Given the description of an element on the screen output the (x, y) to click on. 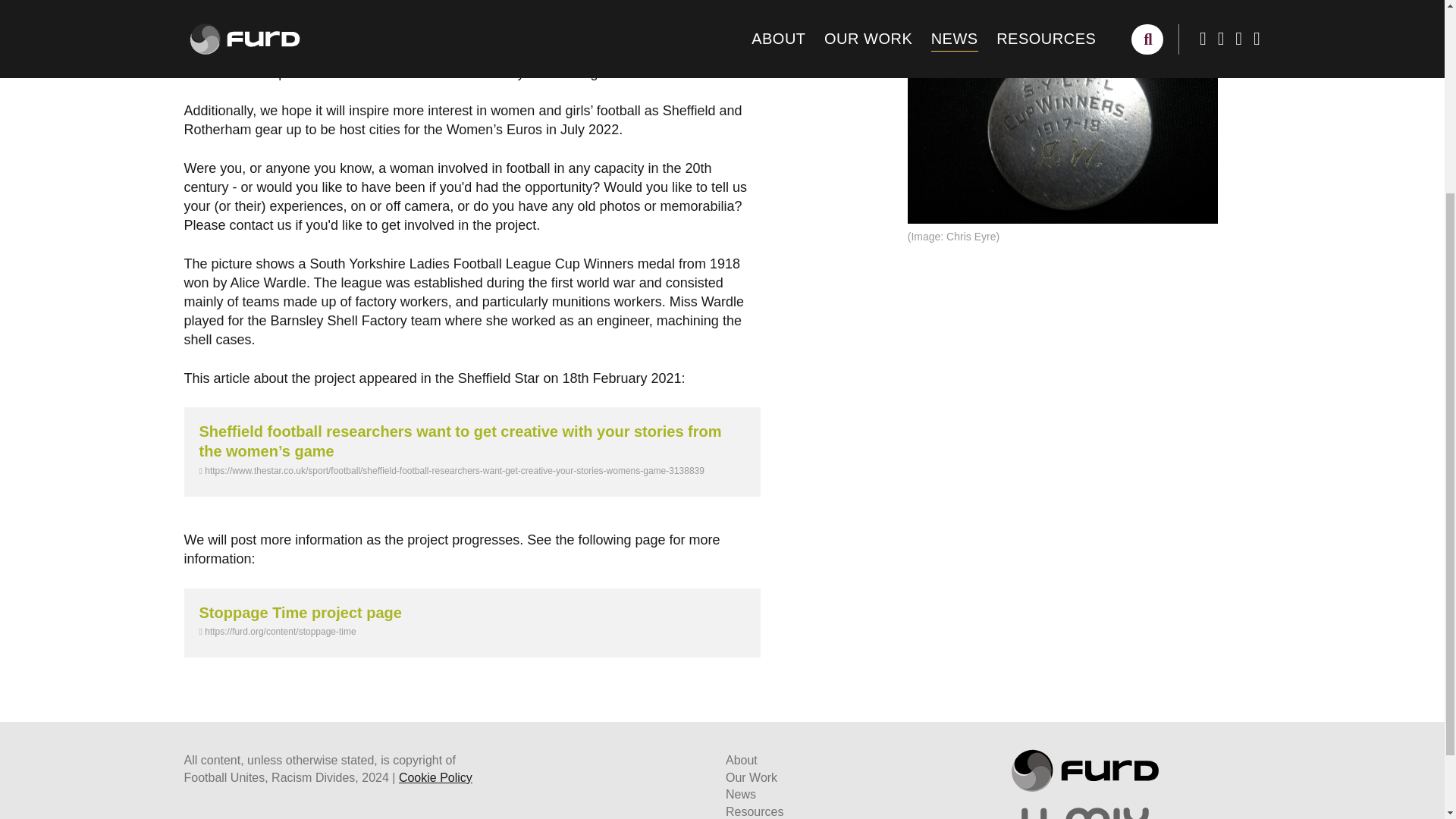
Our Work (751, 777)
News (740, 793)
Resources (754, 811)
Cookie Policy (434, 777)
Stoppage Time project page (299, 612)
About (741, 759)
News (740, 793)
Our Work (751, 777)
Resources (754, 811)
About (741, 759)
